Given the description of an element on the screen output the (x, y) to click on. 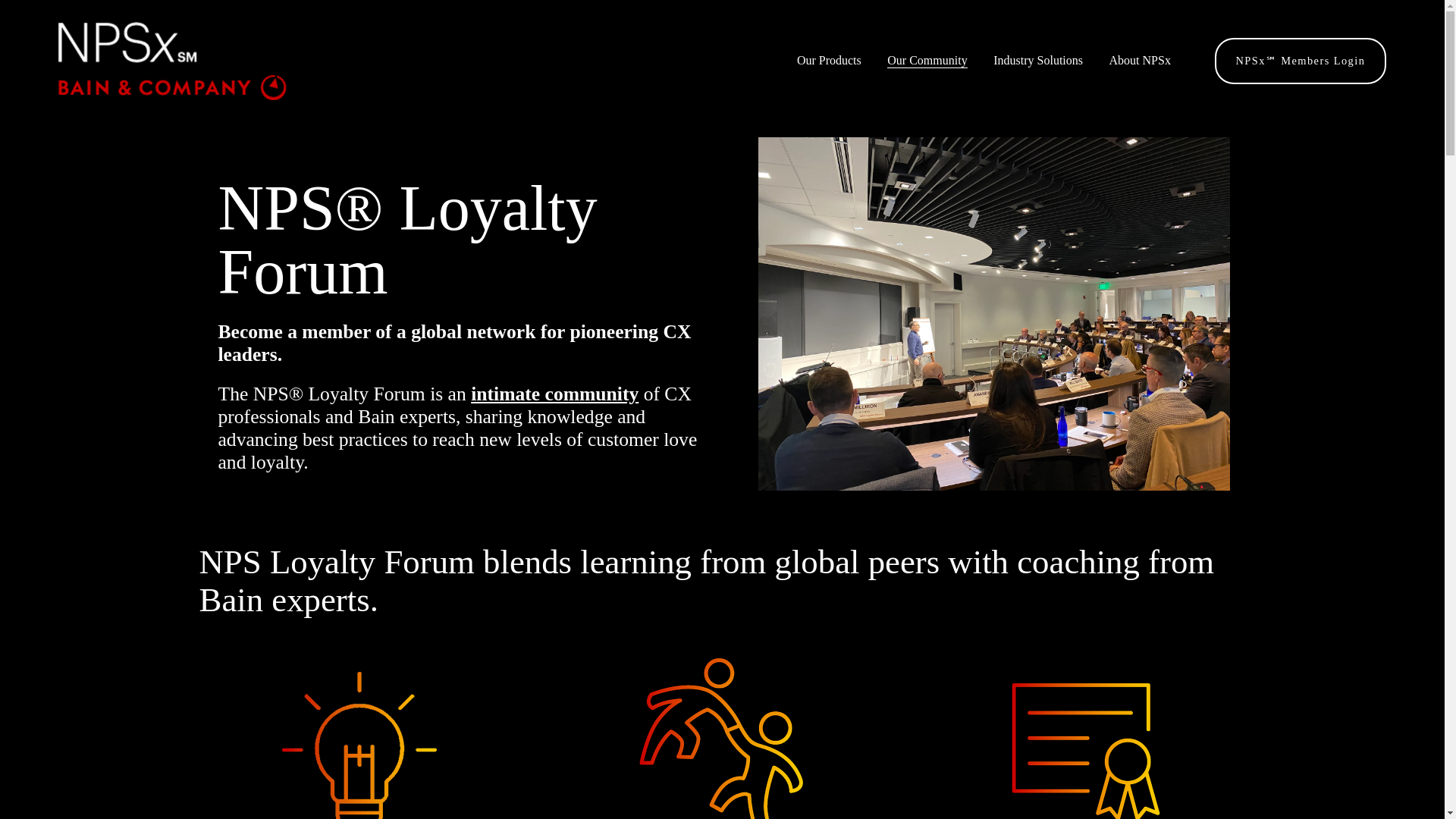
NPSx Logo (172, 60)
Industry Solutions (1037, 60)
Our Community (926, 60)
Our Products (828, 60)
intimate community (554, 393)
About NPSx (1139, 60)
